Given the description of an element on the screen output the (x, y) to click on. 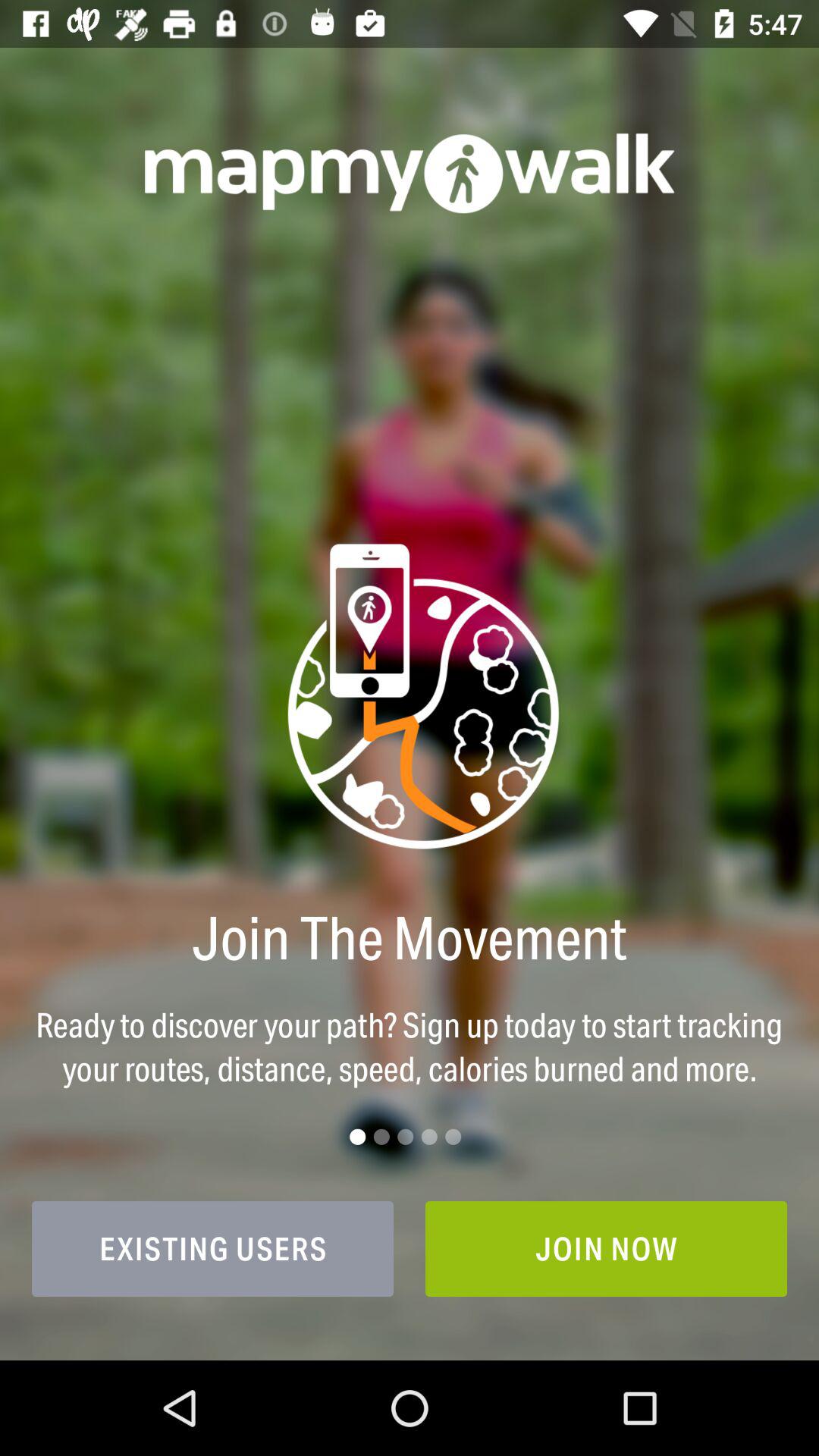
choose existing users item (212, 1248)
